Given the description of an element on the screen output the (x, y) to click on. 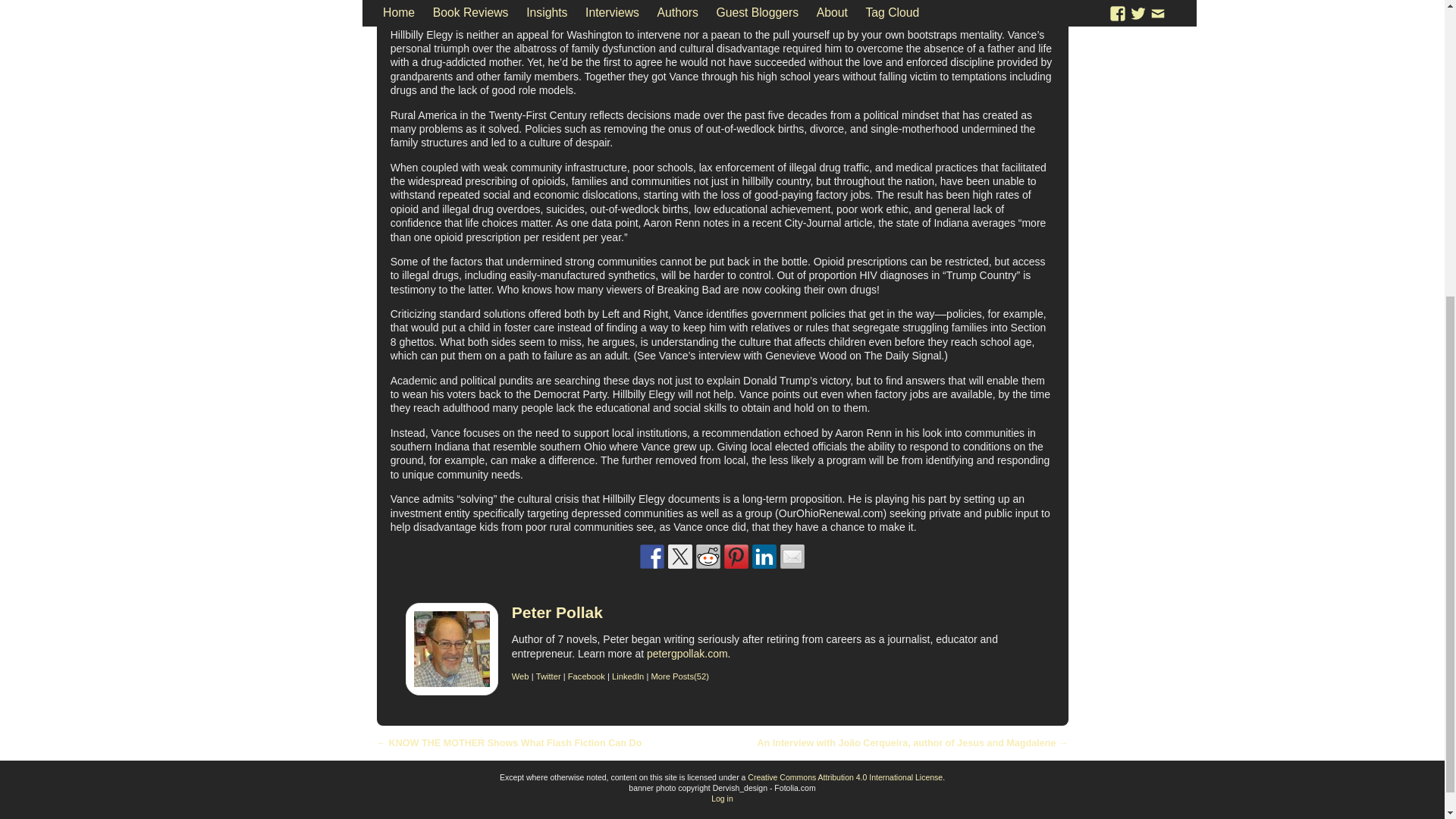
Peter Pollak (557, 611)
Twitter (547, 675)
Share on Twitter (680, 556)
Share on Facebook (651, 556)
Web (520, 675)
petergpollak.com (687, 653)
Share by email (792, 556)
Share on Linkedin (764, 556)
Facebook (586, 675)
LinkedIn (627, 675)
Share on Reddit (707, 556)
Pin it with Pinterest (735, 556)
